Given the description of an element on the screen output the (x, y) to click on. 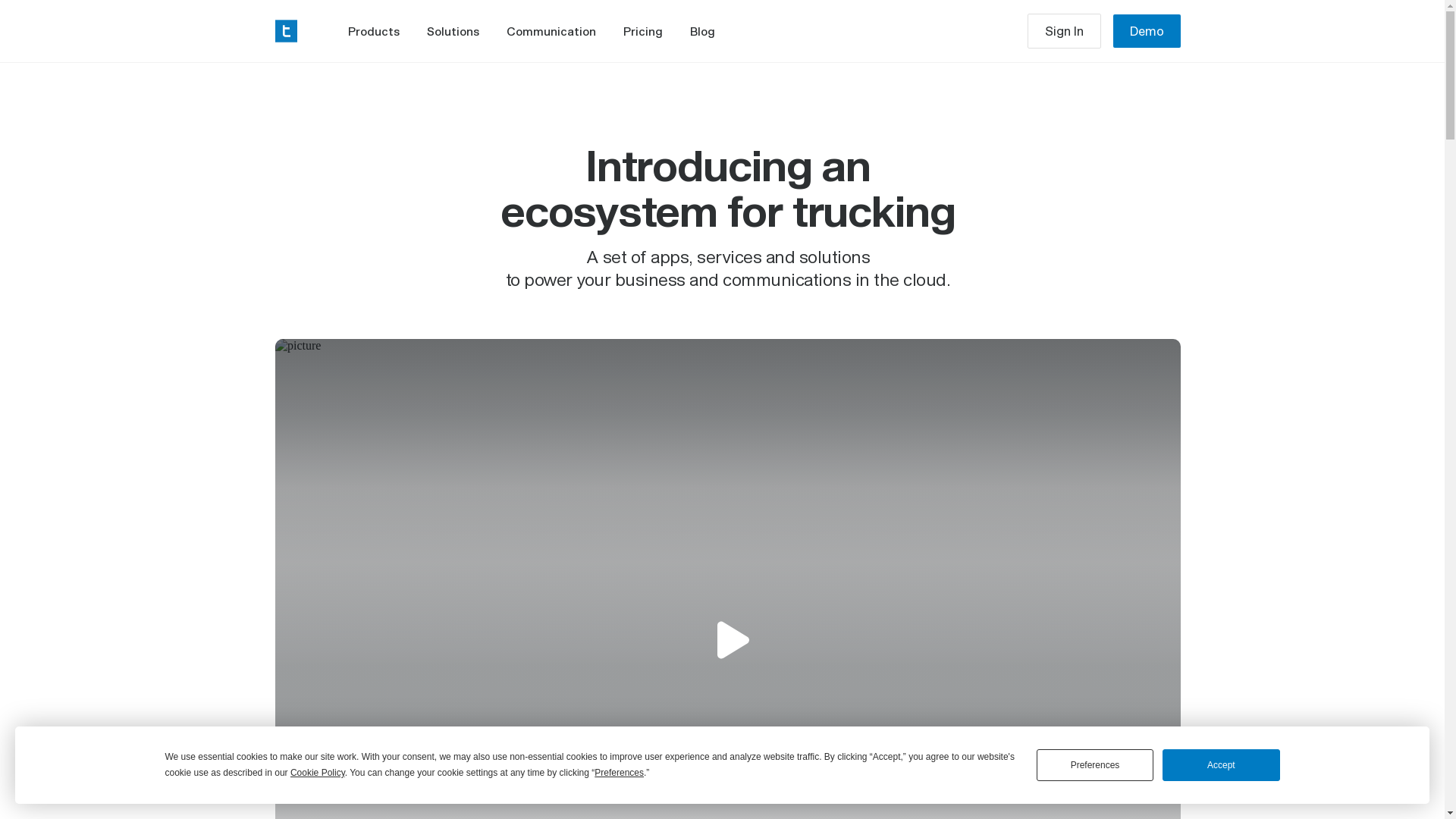
Products Element type: text (373, 31)
Communication Element type: text (551, 31)
Pricing Element type: text (642, 31)
Demo Element type: text (1146, 30)
Blog Element type: text (702, 31)
Accept Element type: text (1220, 765)
Sign In Element type: text (1064, 30)
Solutions Element type: text (452, 31)
Preferences Element type: text (1094, 765)
